Given the description of an element on the screen output the (x, y) to click on. 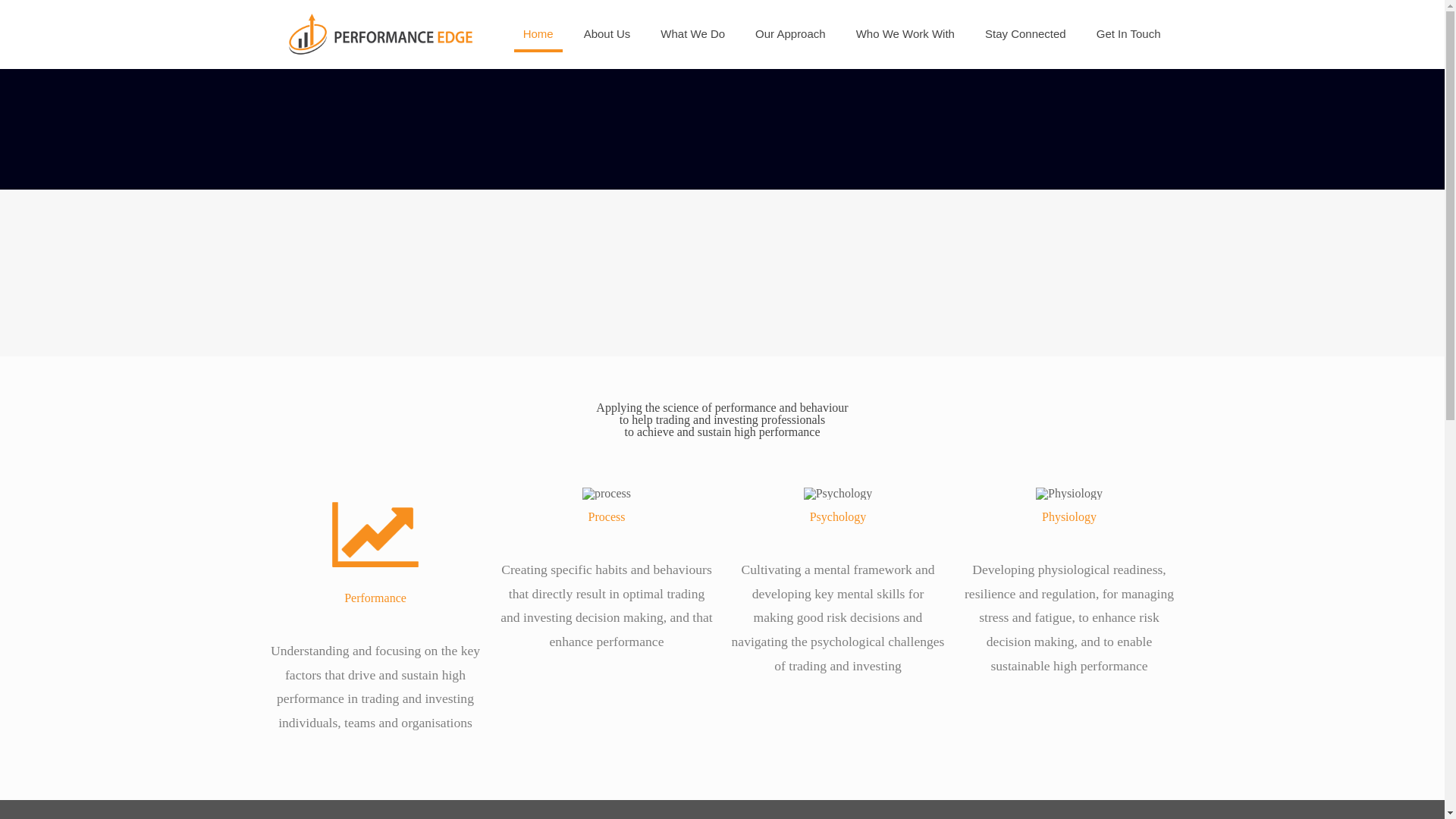
Stay Connected (1025, 33)
What We Do (692, 33)
Our Approach (790, 33)
About Us (607, 33)
Get In Touch (1128, 33)
Who We Work With (905, 33)
Performance Edge Consulting (380, 33)
